Given the description of an element on the screen output the (x, y) to click on. 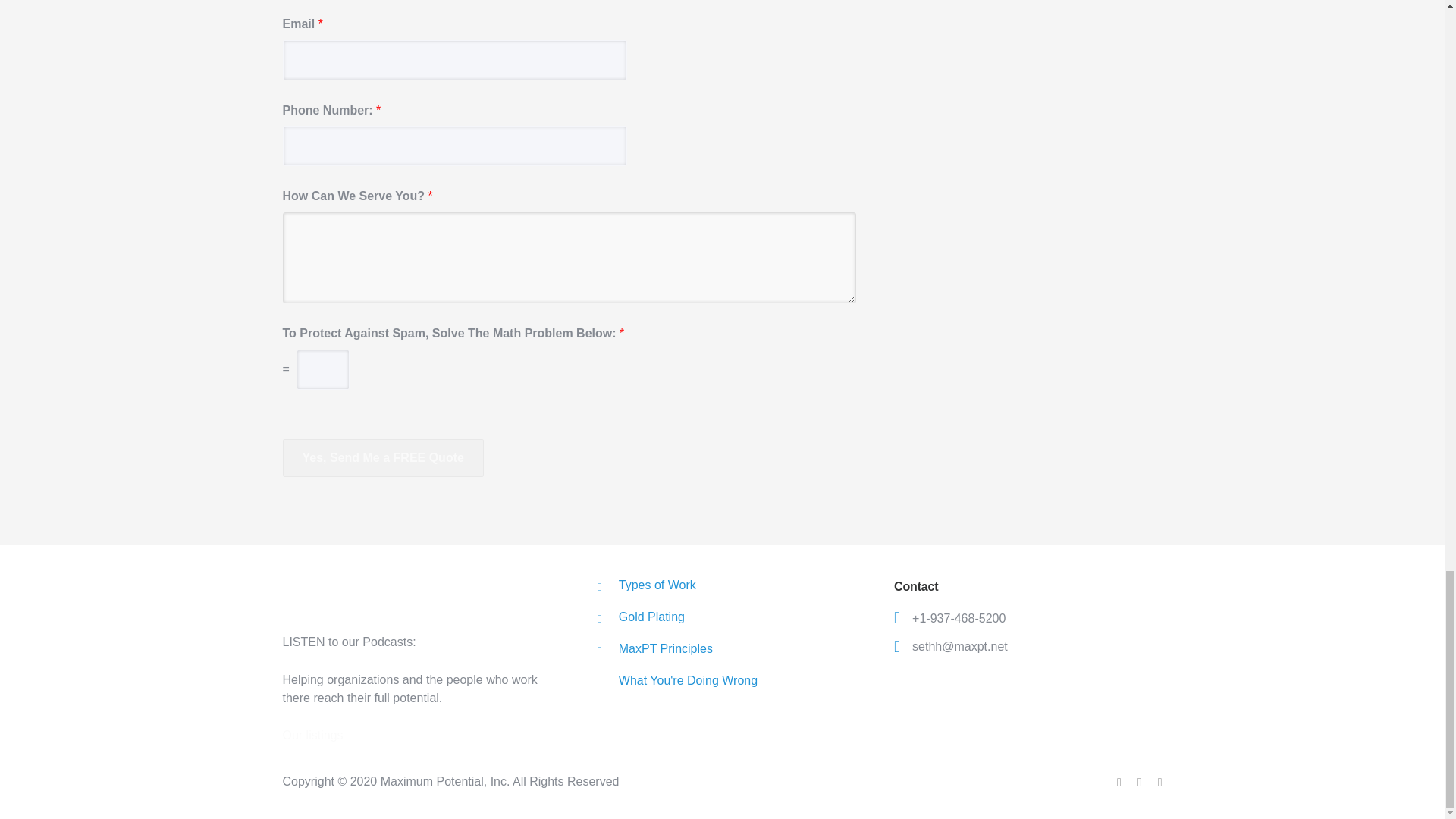
Types of Work (656, 584)
MaxPT Principles (665, 648)
Our listings (312, 735)
Yes, Send Me a FREE Quote (382, 457)
Gold Plating (651, 616)
